Given the description of an element on the screen output the (x, y) to click on. 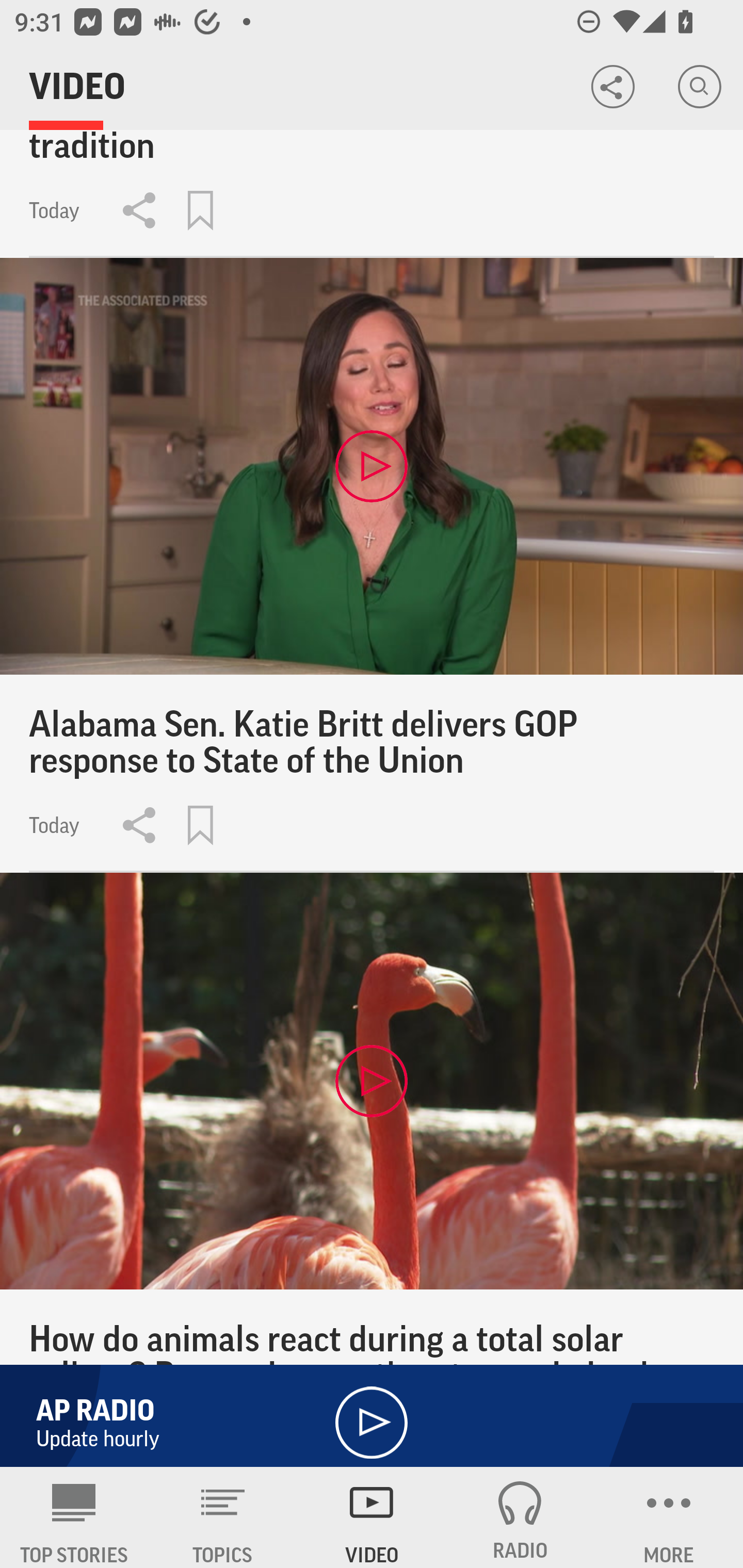
AP News TOP STORIES (74, 1517)
TOPICS (222, 1517)
VIDEO (371, 1517)
RADIO (519, 1517)
MORE (668, 1517)
